Given the description of an element on the screen output the (x, y) to click on. 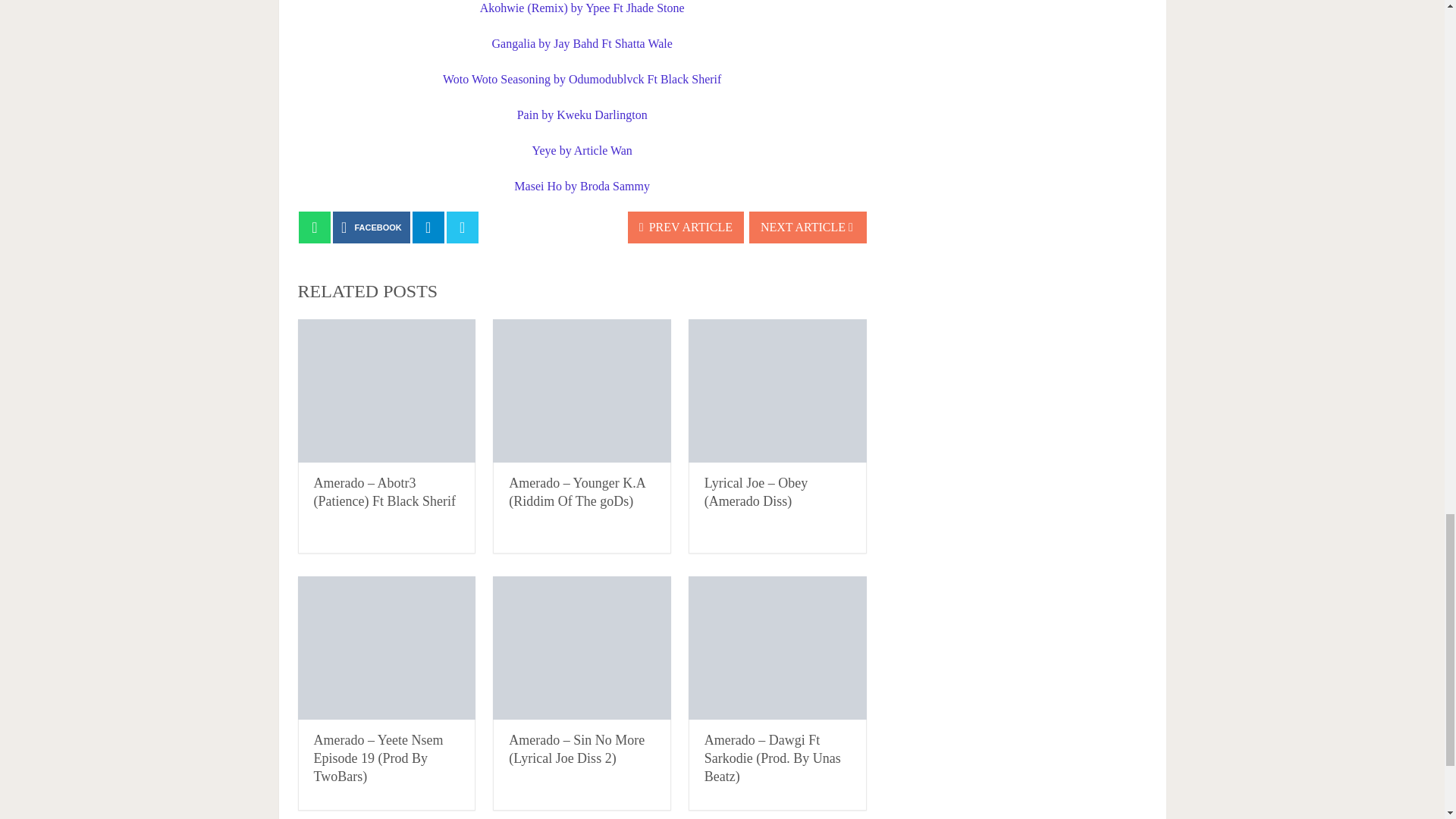
Gangalia by Jay Bahd Ft Shatta Wale (581, 42)
Pain by Kweku Darlington (581, 114)
Masei Ho by Broda Sammy (581, 185)
Woto Woto Seasoning by Odumodublvck Ft Black Sherif (581, 78)
FACEBOOK (371, 227)
Yeye by Article Wan (581, 150)
